Given the description of an element on the screen output the (x, y) to click on. 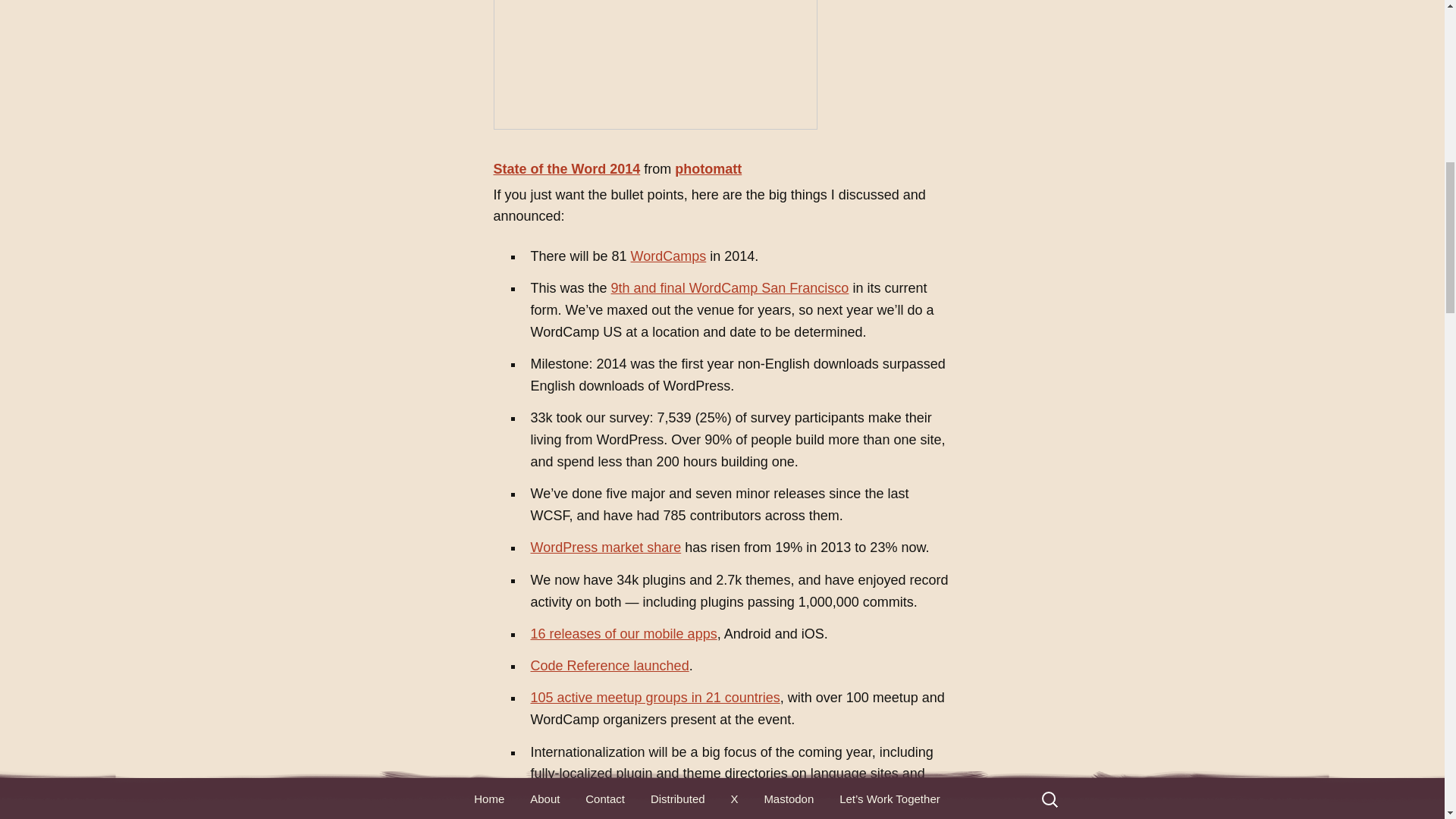
105 active meetup groups in 21 countries (655, 697)
16 releases of our mobile apps (624, 633)
WordPress market share (606, 547)
Code Reference launched (609, 665)
photomatt (708, 168)
WordCamps (668, 255)
9th and final WordCamp San Francisco (729, 287)
State of the Word 2014 (566, 168)
State of the Word 2014 (566, 168)
State of the Word 2014 (654, 64)
